Given the description of an element on the screen output the (x, y) to click on. 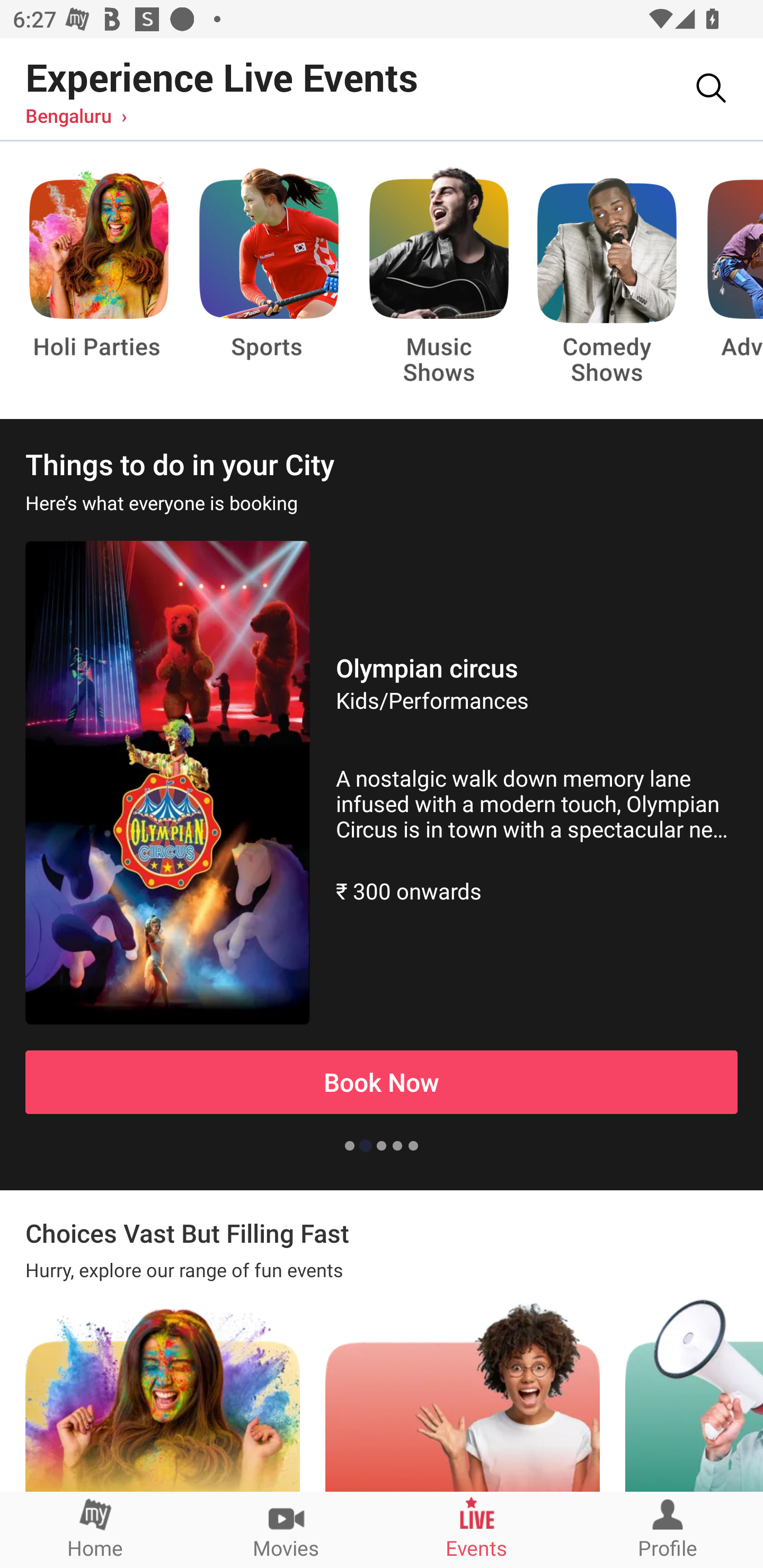
Bengaluru  › (76, 114)
Book Now (381, 1081)
Home (95, 1529)
Movies (285, 1529)
Events (476, 1529)
Profile (667, 1529)
